Given the description of an element on the screen output the (x, y) to click on. 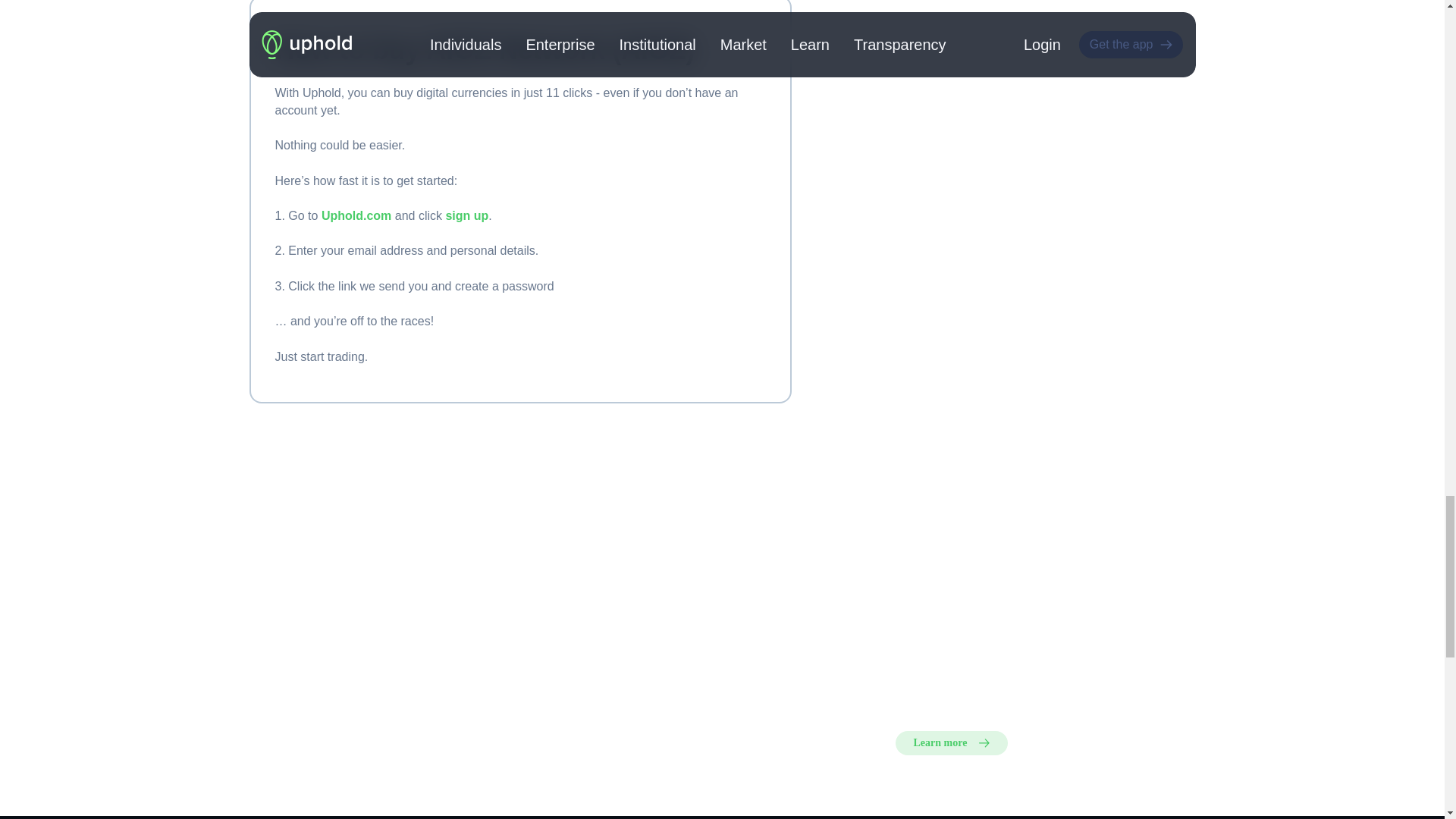
sign up (466, 215)
Learn more (951, 743)
Uphold.com (356, 215)
